Given the description of an element on the screen output the (x, y) to click on. 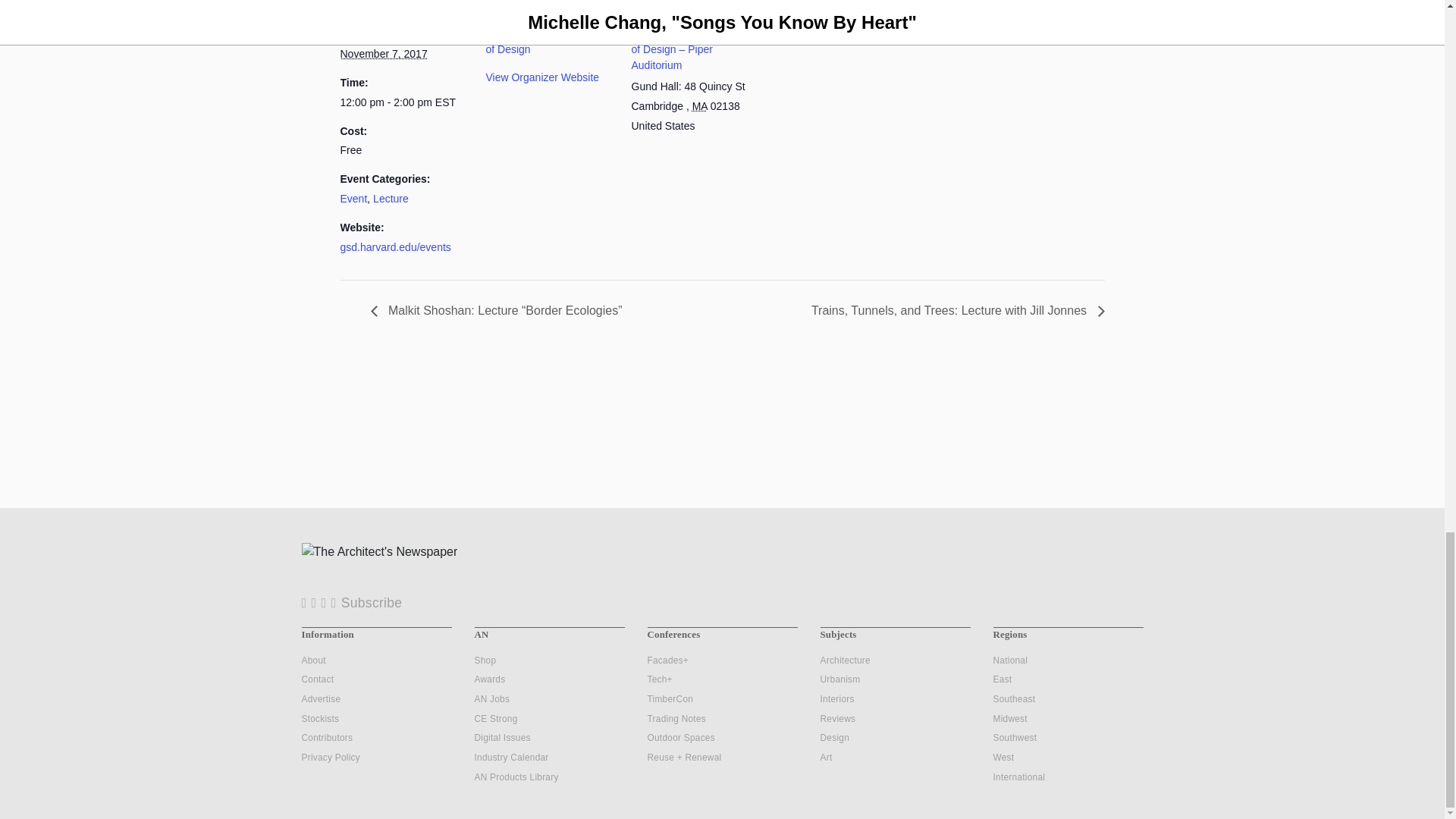
Massachusetts (700, 105)
Harvard Graduate School of Design (544, 41)
2017-11-07 (382, 53)
2017-11-07 (403, 102)
